Given the description of an element on the screen output the (x, y) to click on. 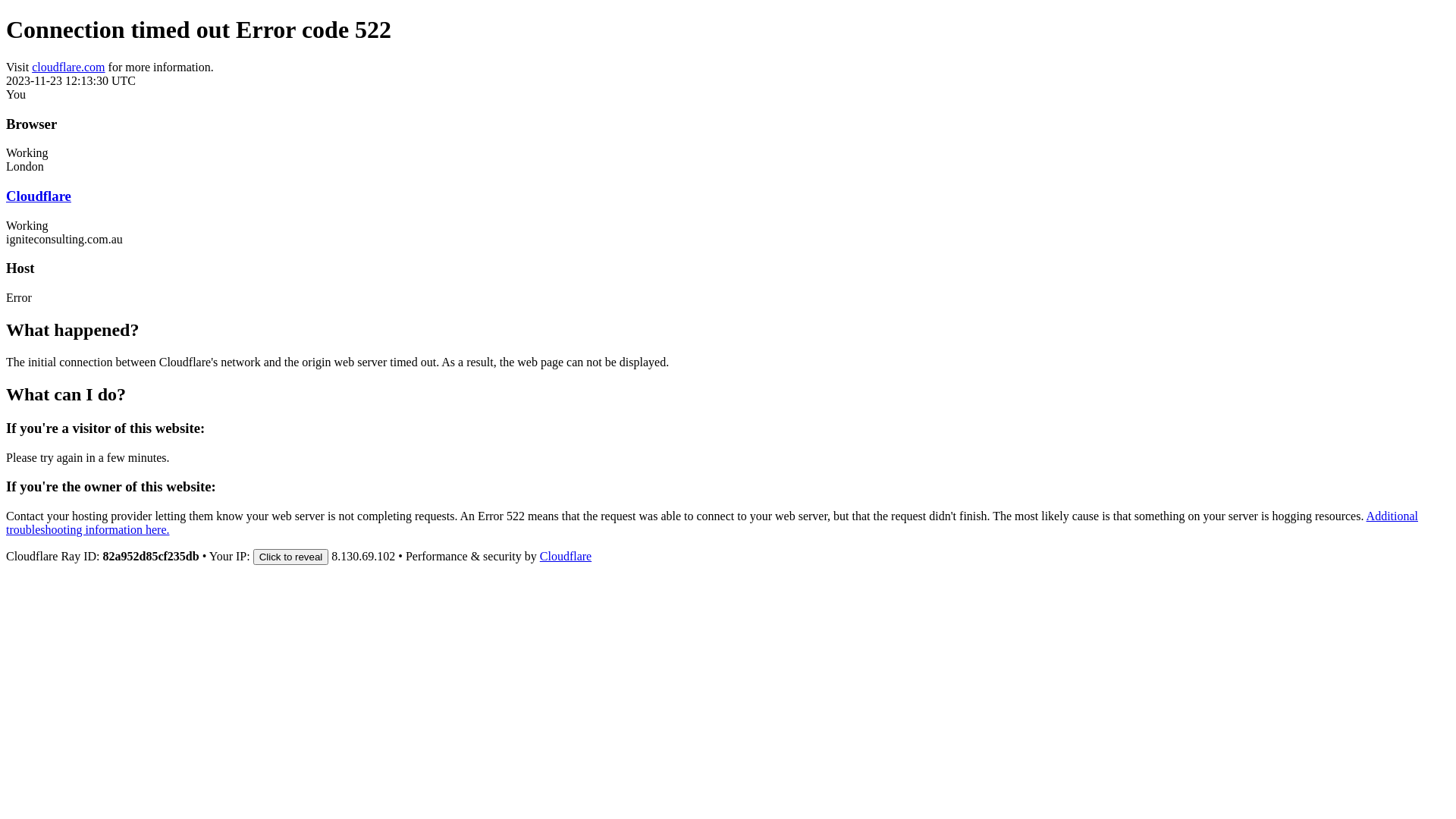
Click to reveal Element type: text (291, 556)
Cloudflare Element type: text (38, 195)
cloudflare.com Element type: text (67, 66)
Additional troubleshooting information here. Element type: text (712, 522)
Cloudflare Element type: text (565, 555)
